Given the description of an element on the screen output the (x, y) to click on. 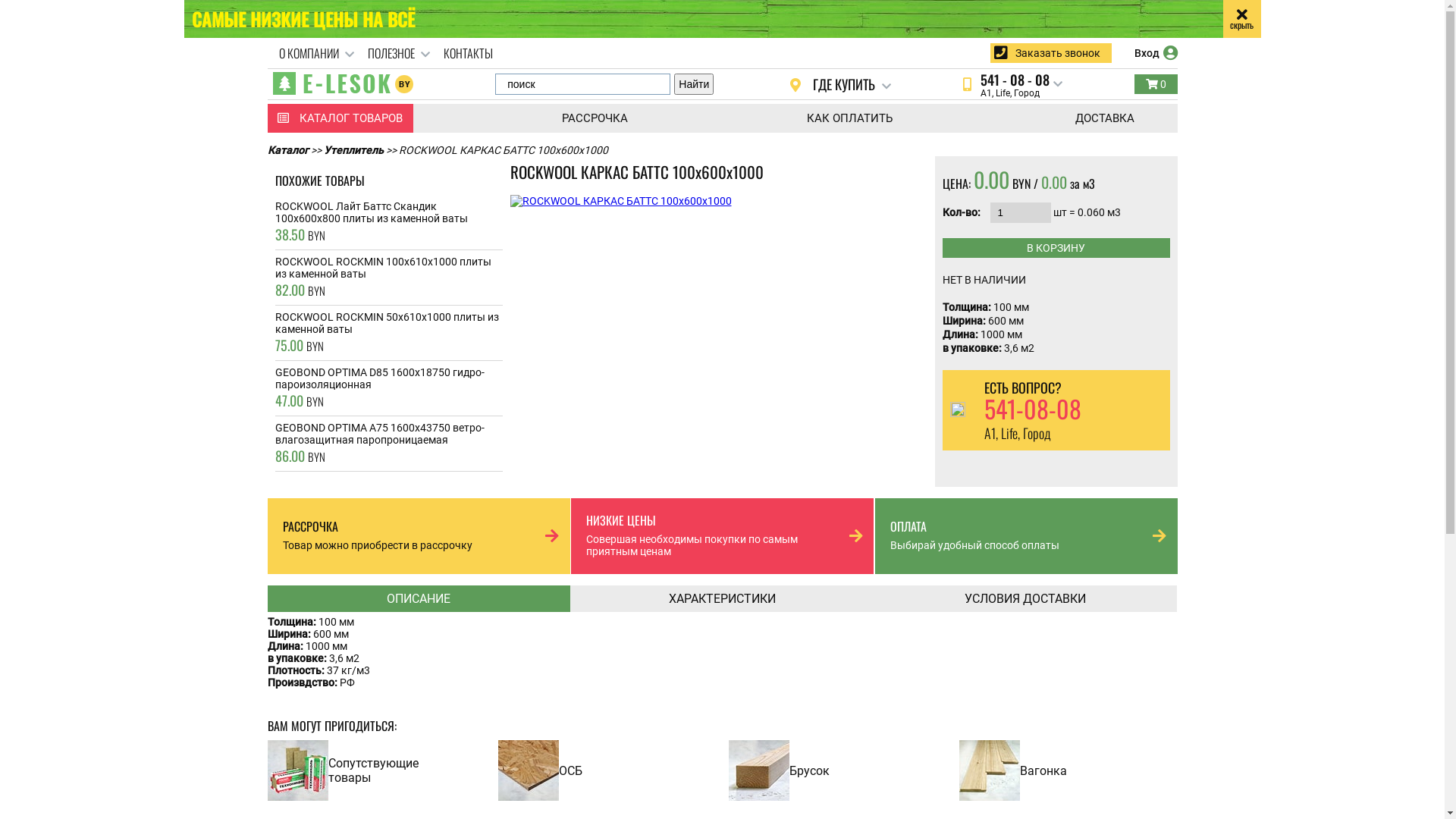
541-08-08 Element type: text (1032, 410)
0 Element type: text (1155, 84)
